Given the description of an element on the screen output the (x, y) to click on. 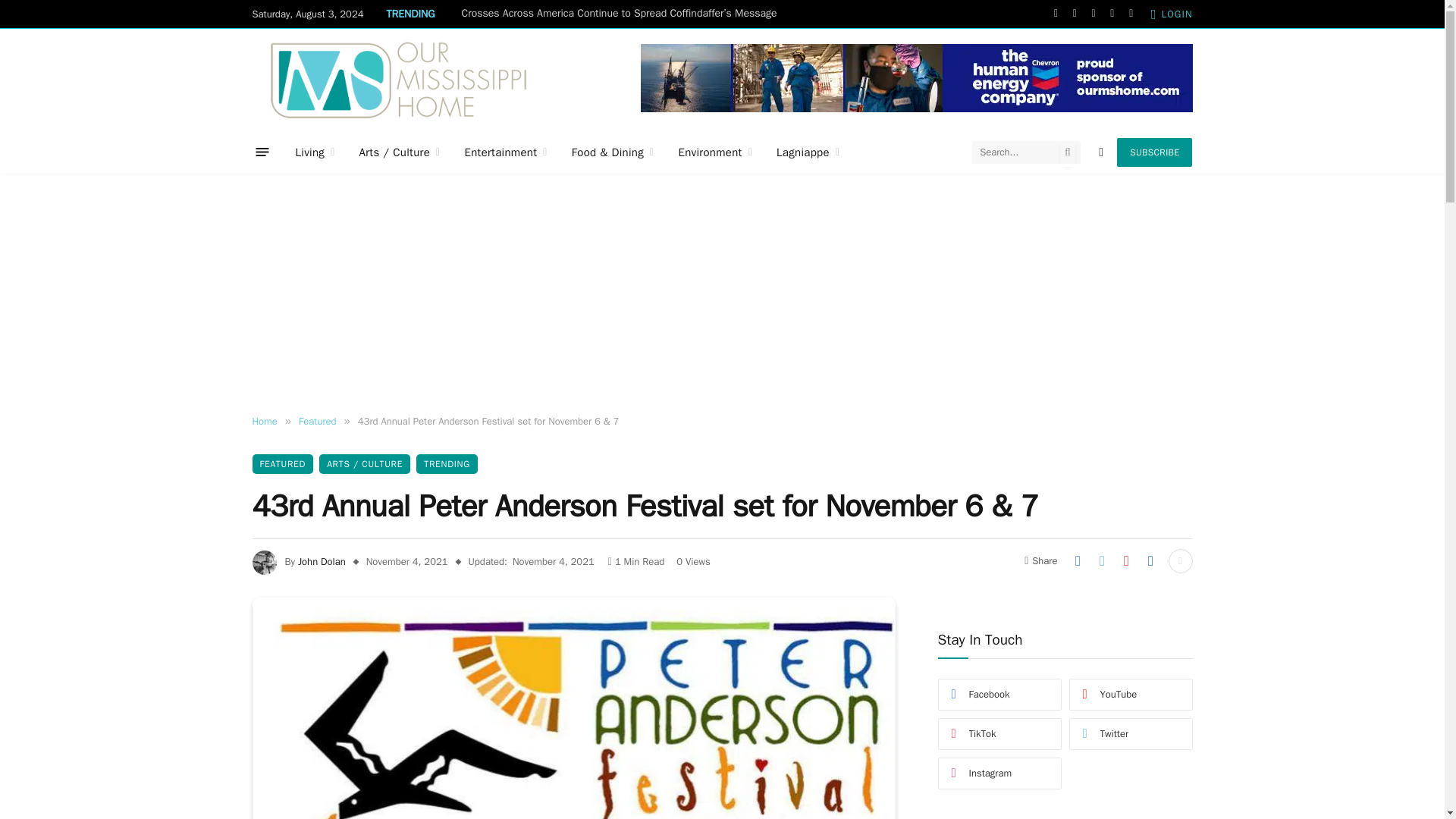
LOGIN (1171, 13)
Living (315, 151)
Our Mississippi Home (397, 79)
